Given the description of an element on the screen output the (x, y) to click on. 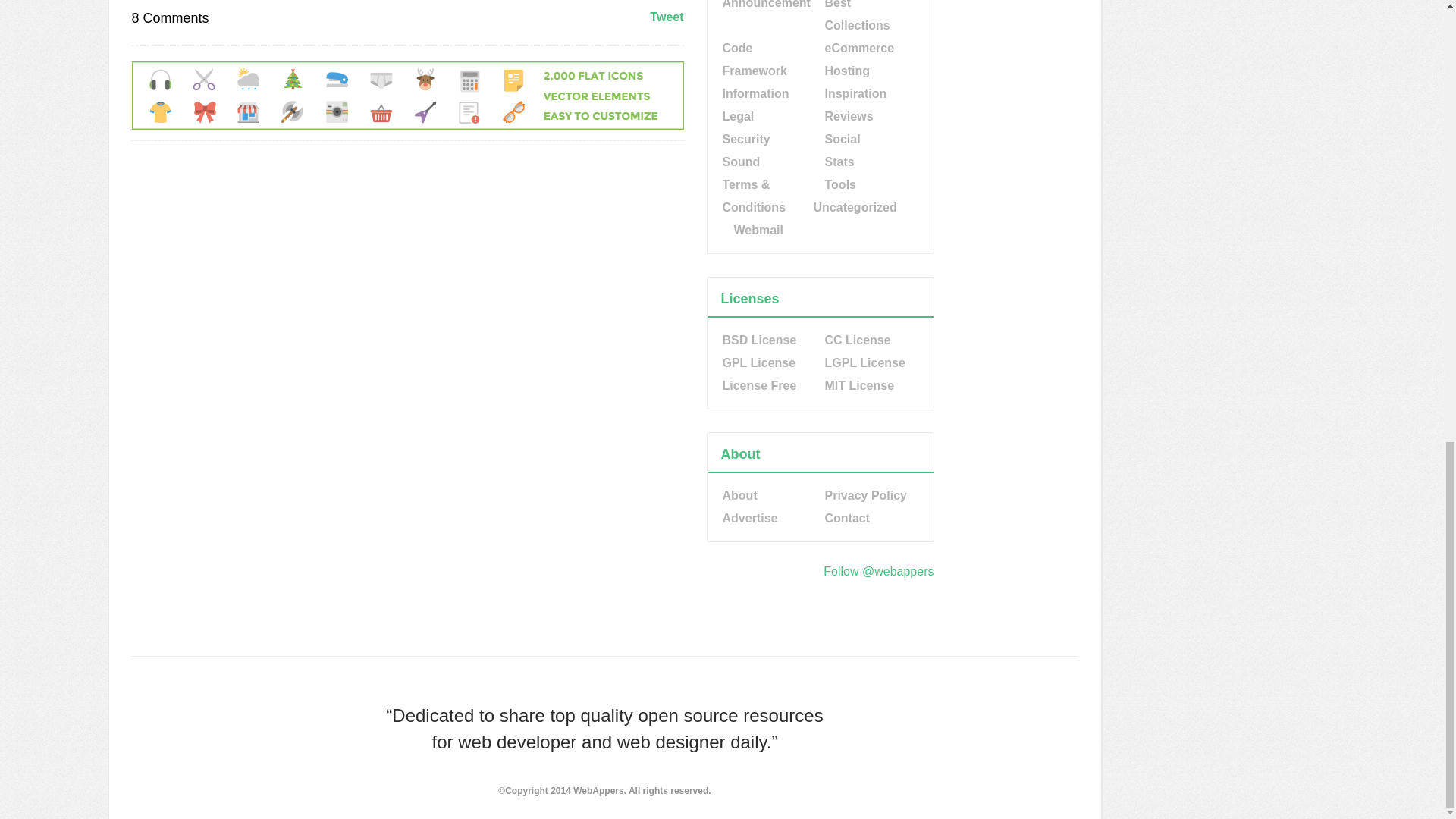
Tweet (665, 16)
flat icons (408, 124)
